Given the description of an element on the screen output the (x, y) to click on. 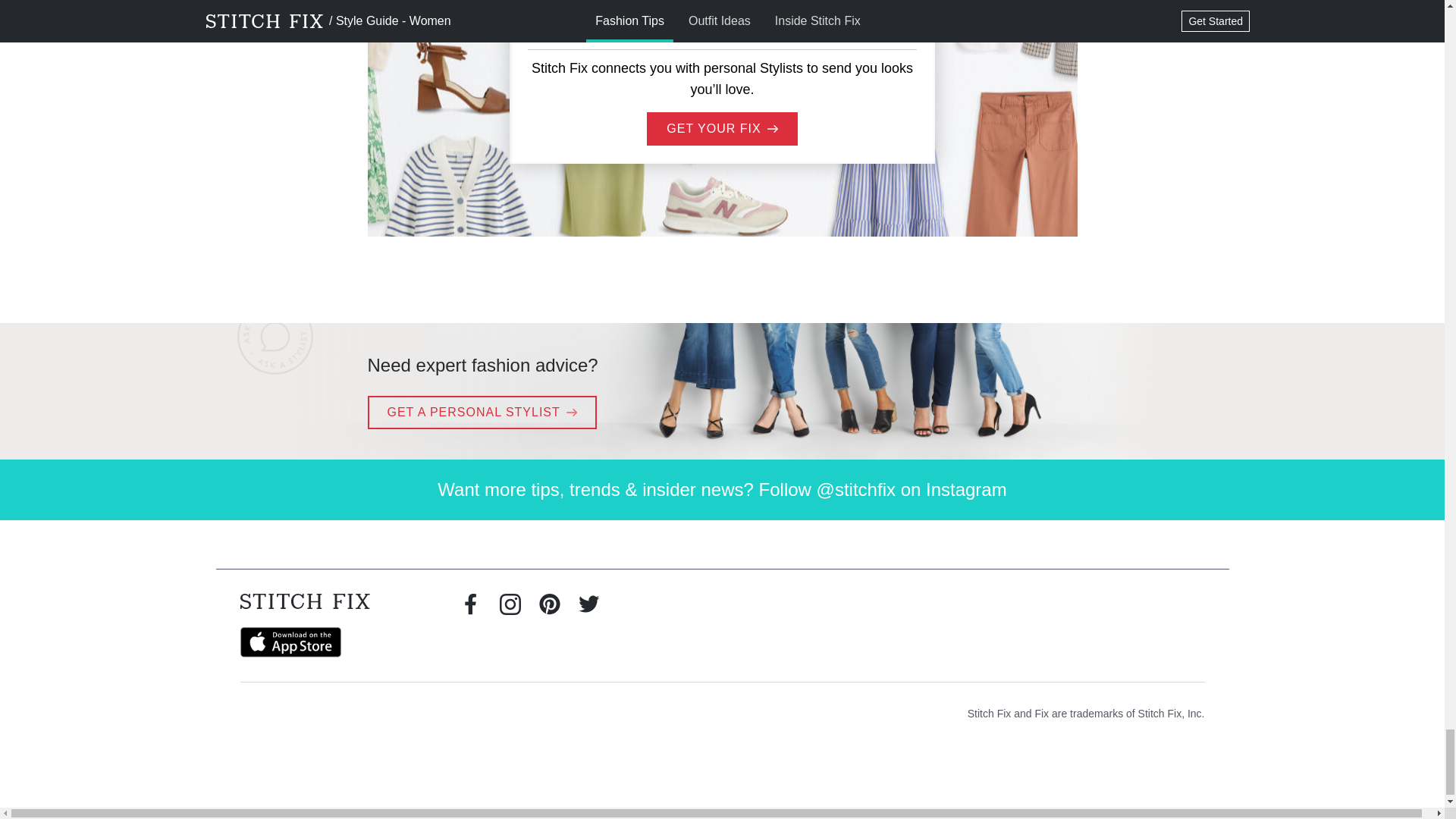
GET YOUR FIX (721, 128)
GET A PERSONAL STYLIST (480, 412)
Stitch Fix (304, 601)
